Given the description of an element on the screen output the (x, y) to click on. 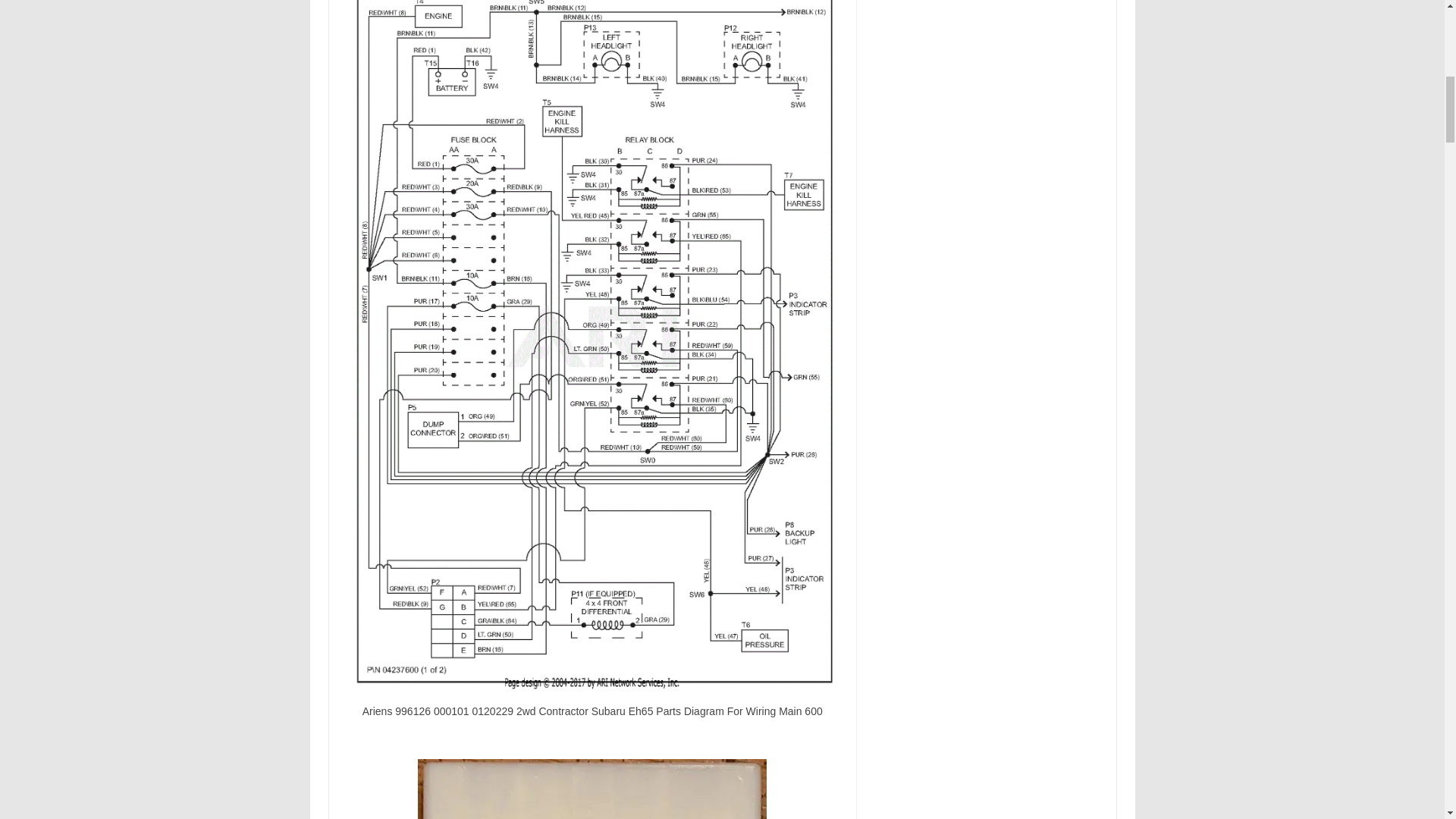
Subaru Legacy Outback Baja Radio Harness Pin Out (592, 789)
